Given the description of an element on the screen output the (x, y) to click on. 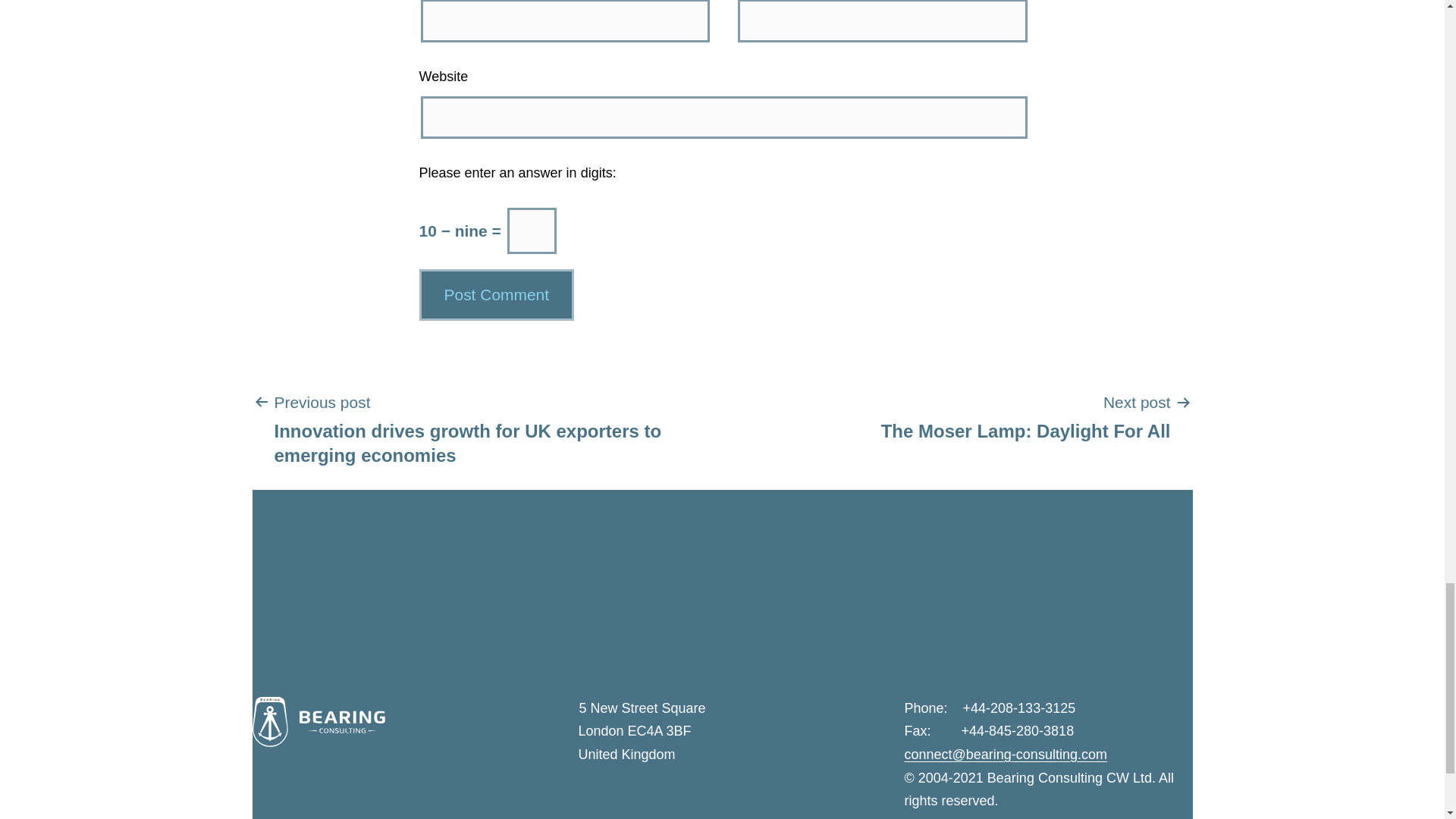
Post Comment (1025, 416)
Post Comment (496, 294)
